Given the description of an element on the screen output the (x, y) to click on. 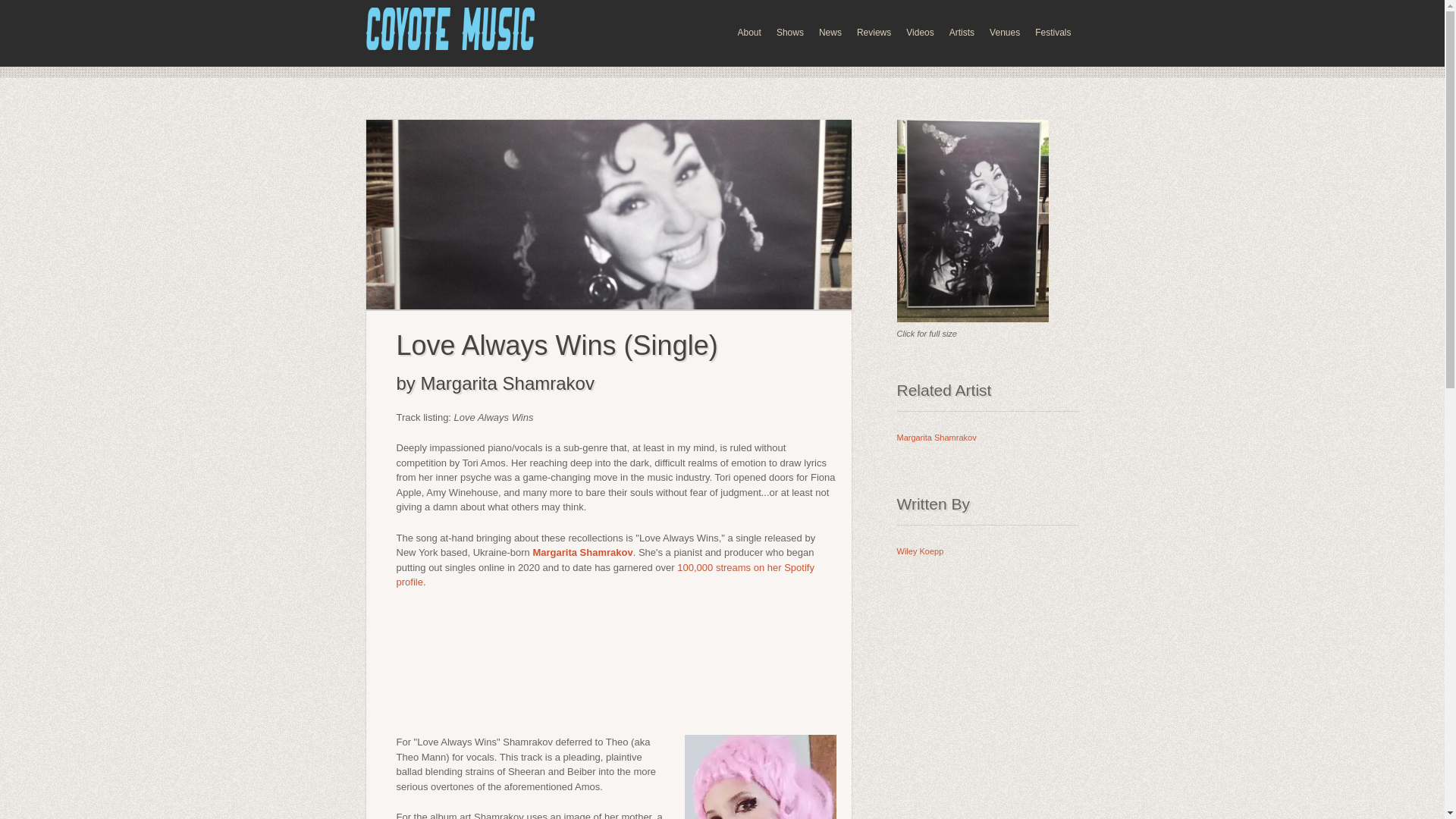
Margarita Shamrakov (935, 437)
100,000 streams on her Spotify profile (604, 574)
Advertisement (991, 693)
Margarita Shamrakov (581, 552)
Wiley Koepp (919, 551)
